Given the description of an element on the screen output the (x, y) to click on. 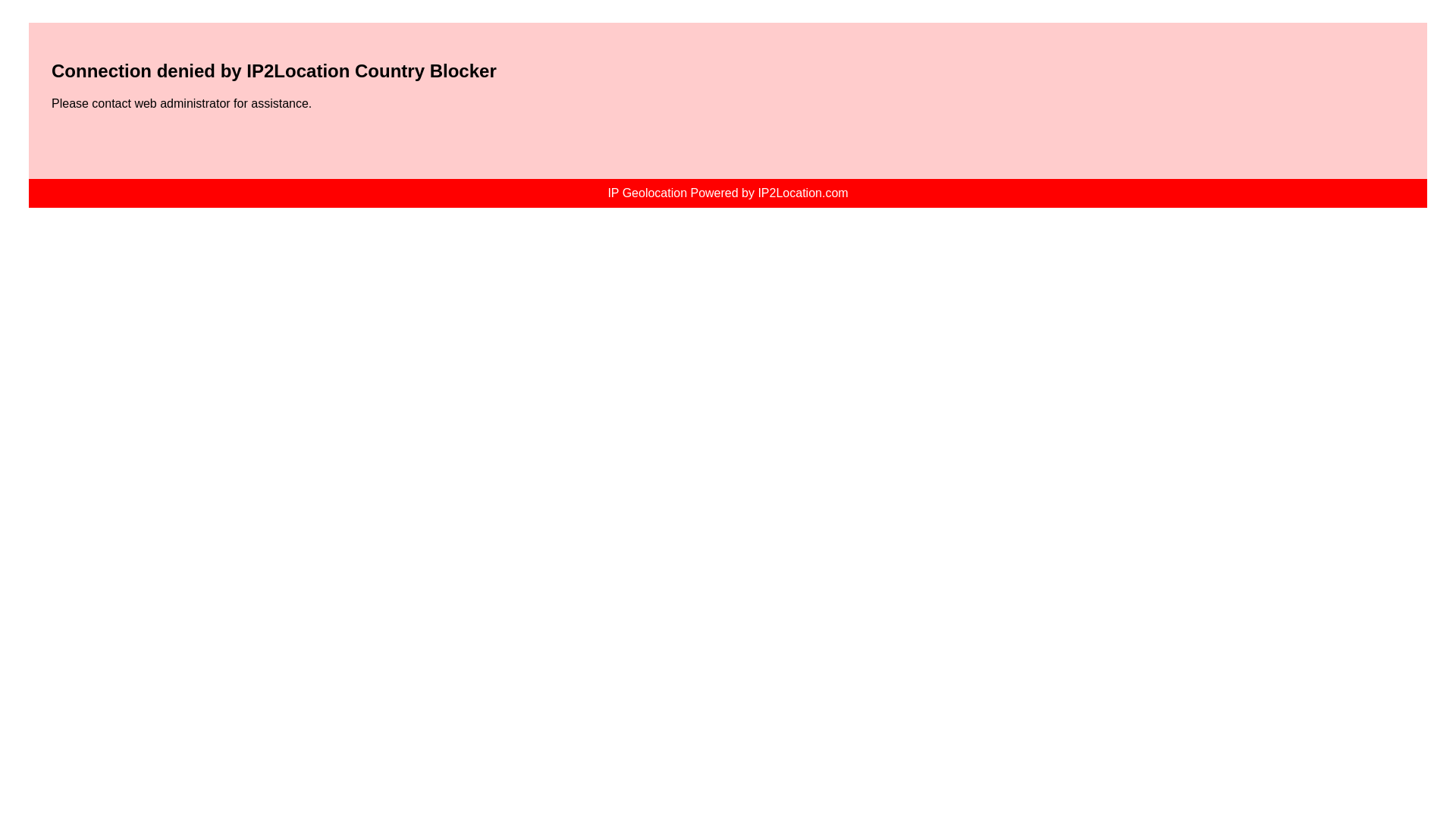
IP Geolocation Powered by IP2Location.com Element type: text (727, 192)
